Given the description of an element on the screen output the (x, y) to click on. 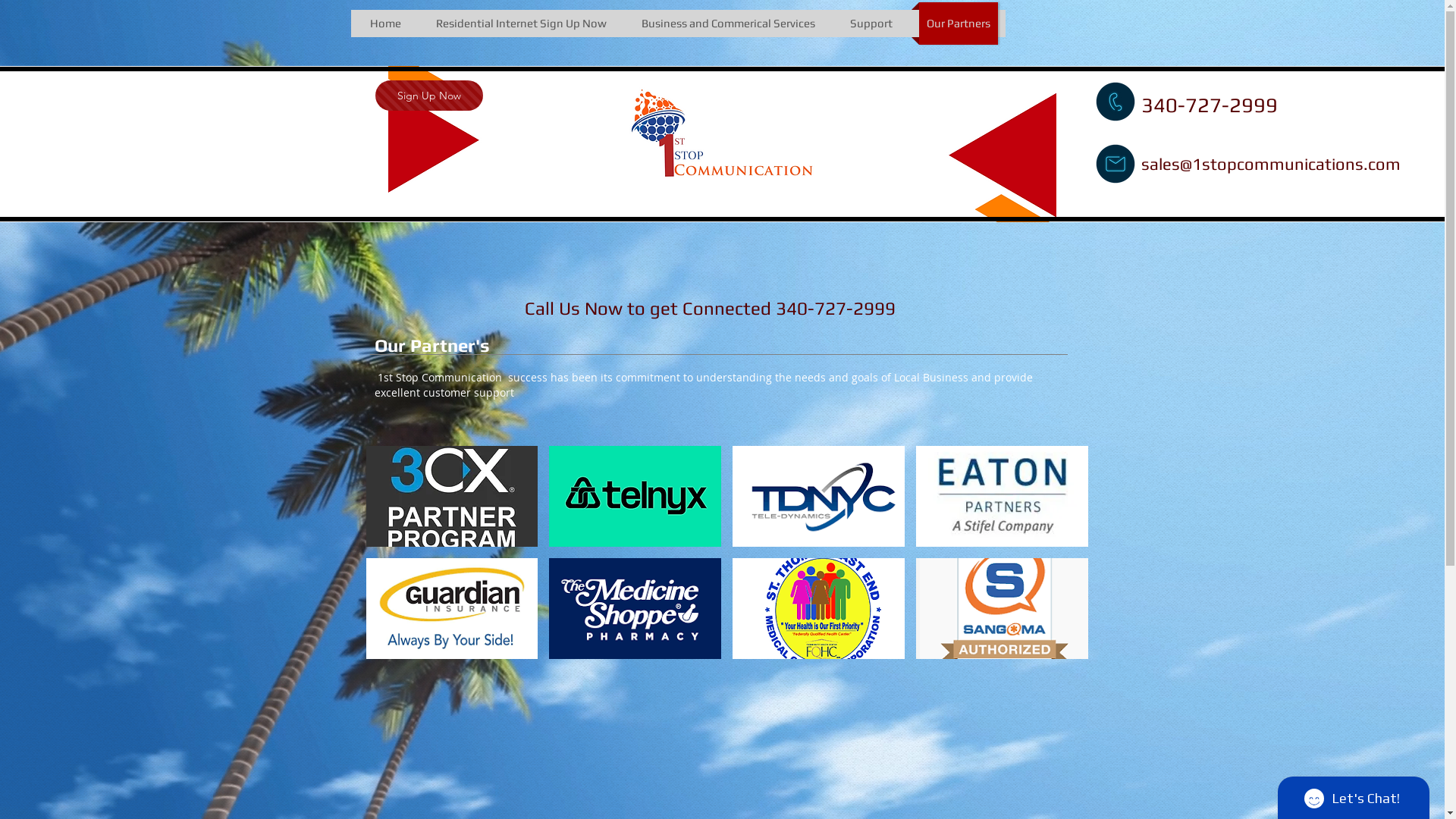
Business and Commerical Services Element type: text (728, 23)
Sign Up Now Element type: text (428, 95)
Our Partners Element type: text (958, 23)
Home Element type: text (385, 23)
Residential Internet Sign Up Now Element type: text (520, 23)
sales@1stopcommunications.com Element type: text (1269, 163)
Support Element type: text (870, 23)
